Given the description of an element on the screen output the (x, y) to click on. 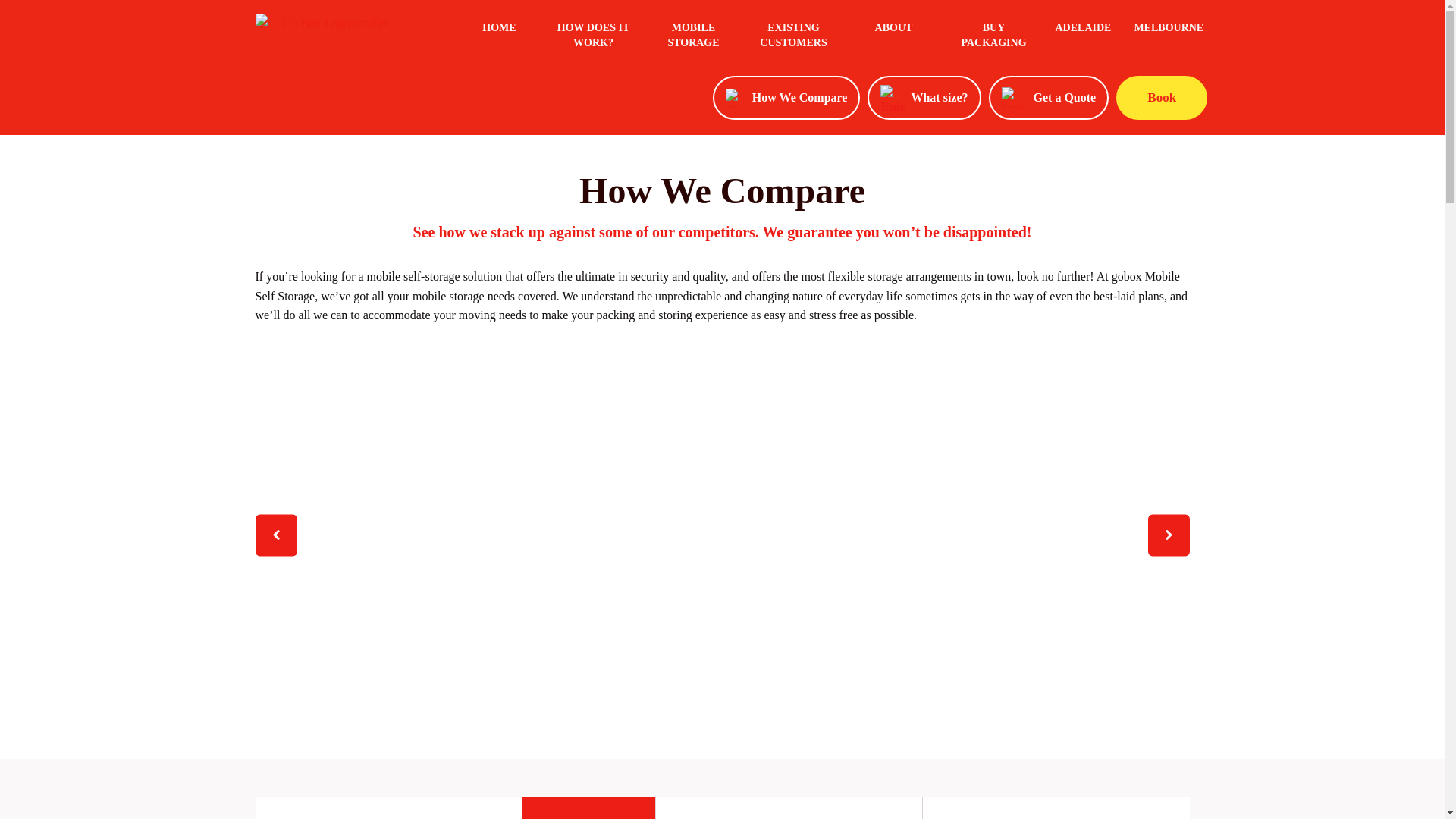
How We Compare Element type: text (786, 97)
EXISTING CUSTOMERS Element type: text (793, 37)
HOW DOES IT WORK? Element type: text (592, 37)
What size? Element type: text (923, 97)
ADELAIDE Element type: text (1082, 27)
MOBILE STORAGE Element type: text (693, 37)
BUY PACKAGING Element type: text (993, 37)
HOME Element type: text (498, 37)
MELBOURNE Element type: text (1168, 27)
Get a Quote Element type: text (1048, 97)
Book Element type: text (1161, 97)
ABOUT Element type: text (893, 37)
